Given the description of an element on the screen output the (x, y) to click on. 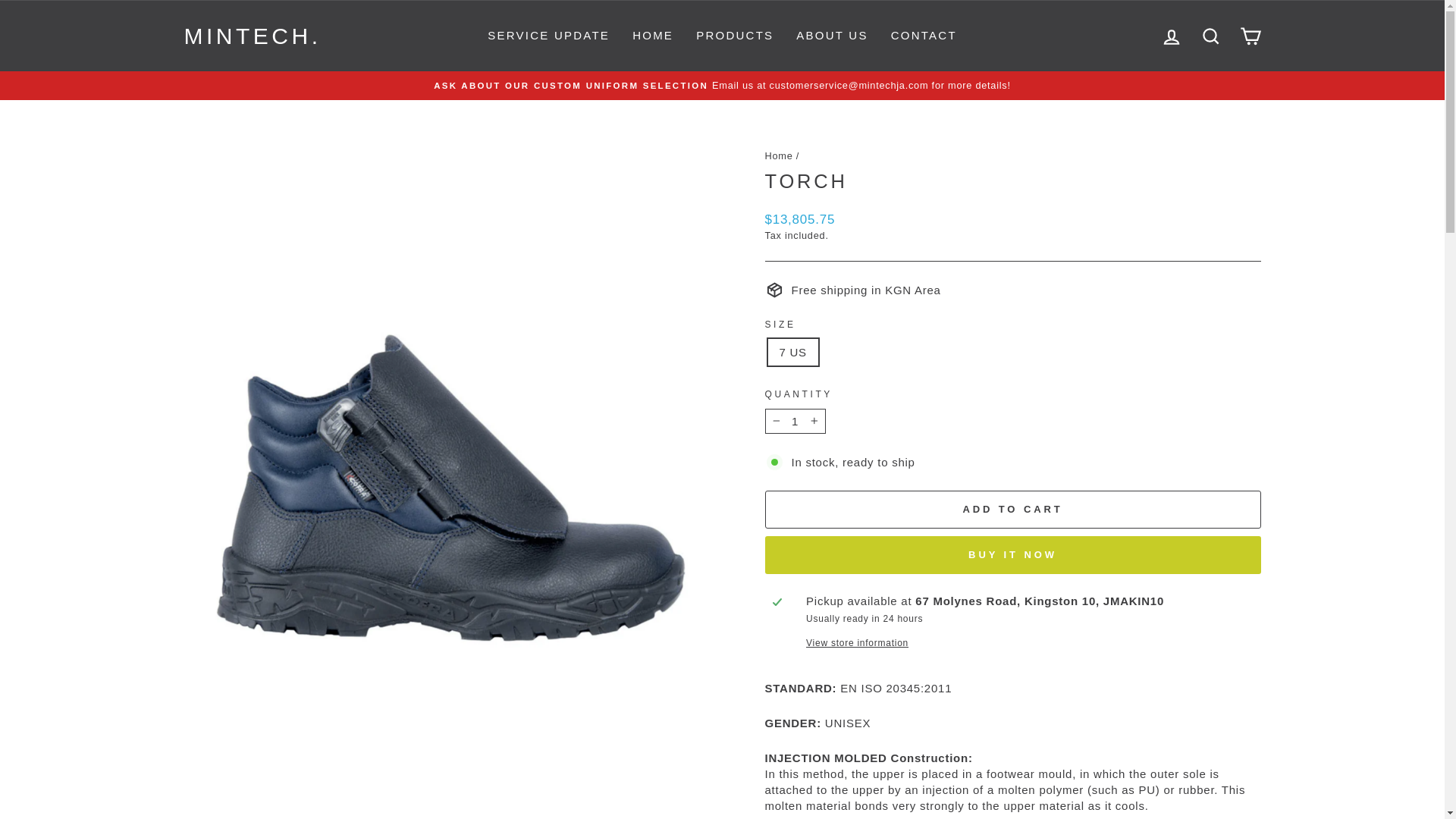
Back to the frontpage (778, 155)
HOME (652, 36)
PRODUCTS (734, 36)
MINTECH. (251, 35)
1 (794, 421)
SERVICE UPDATE (548, 36)
